Given the description of an element on the screen output the (x, y) to click on. 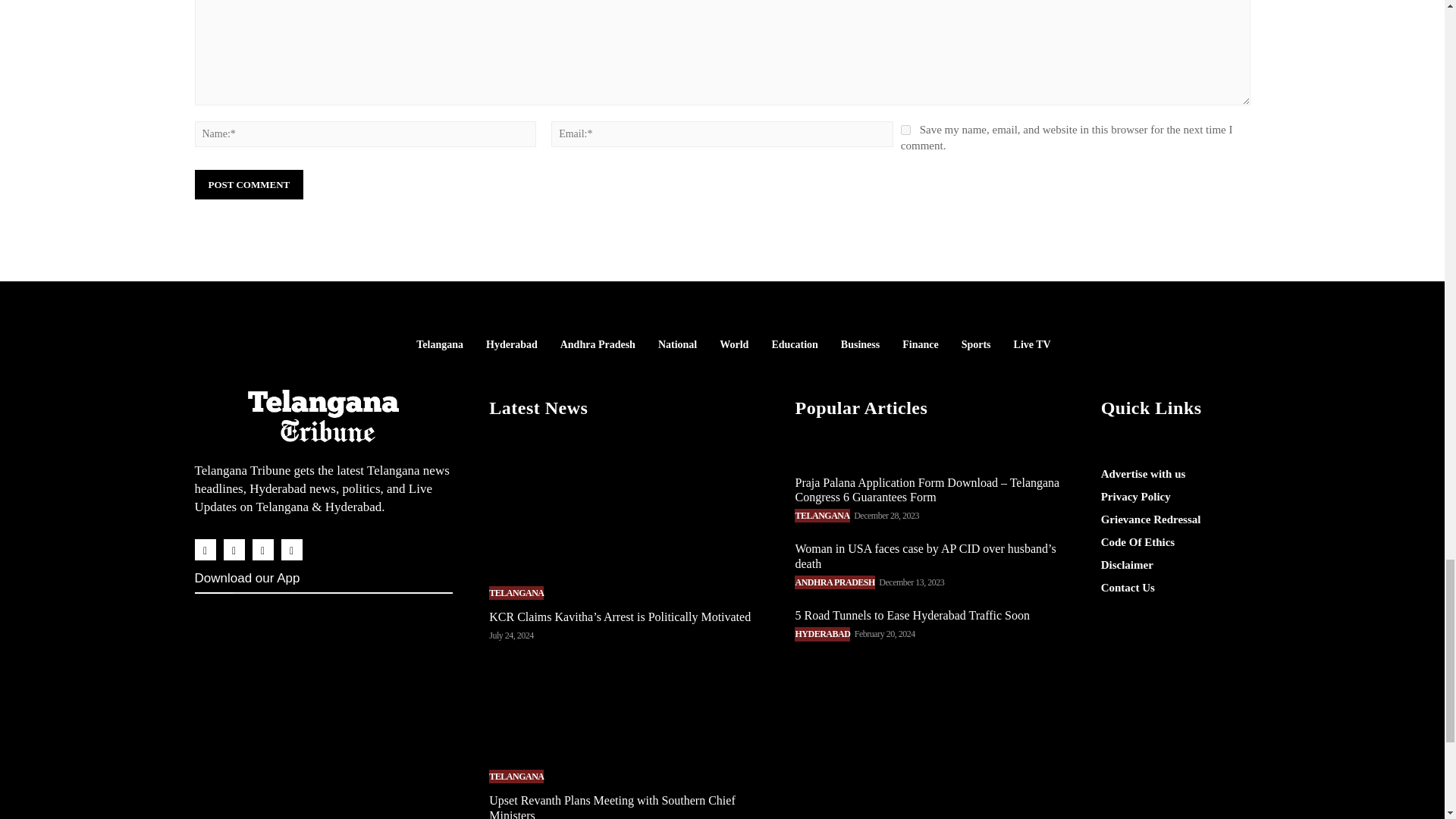
Post Comment (247, 184)
yes (906, 130)
